Given the description of an element on the screen output the (x, y) to click on. 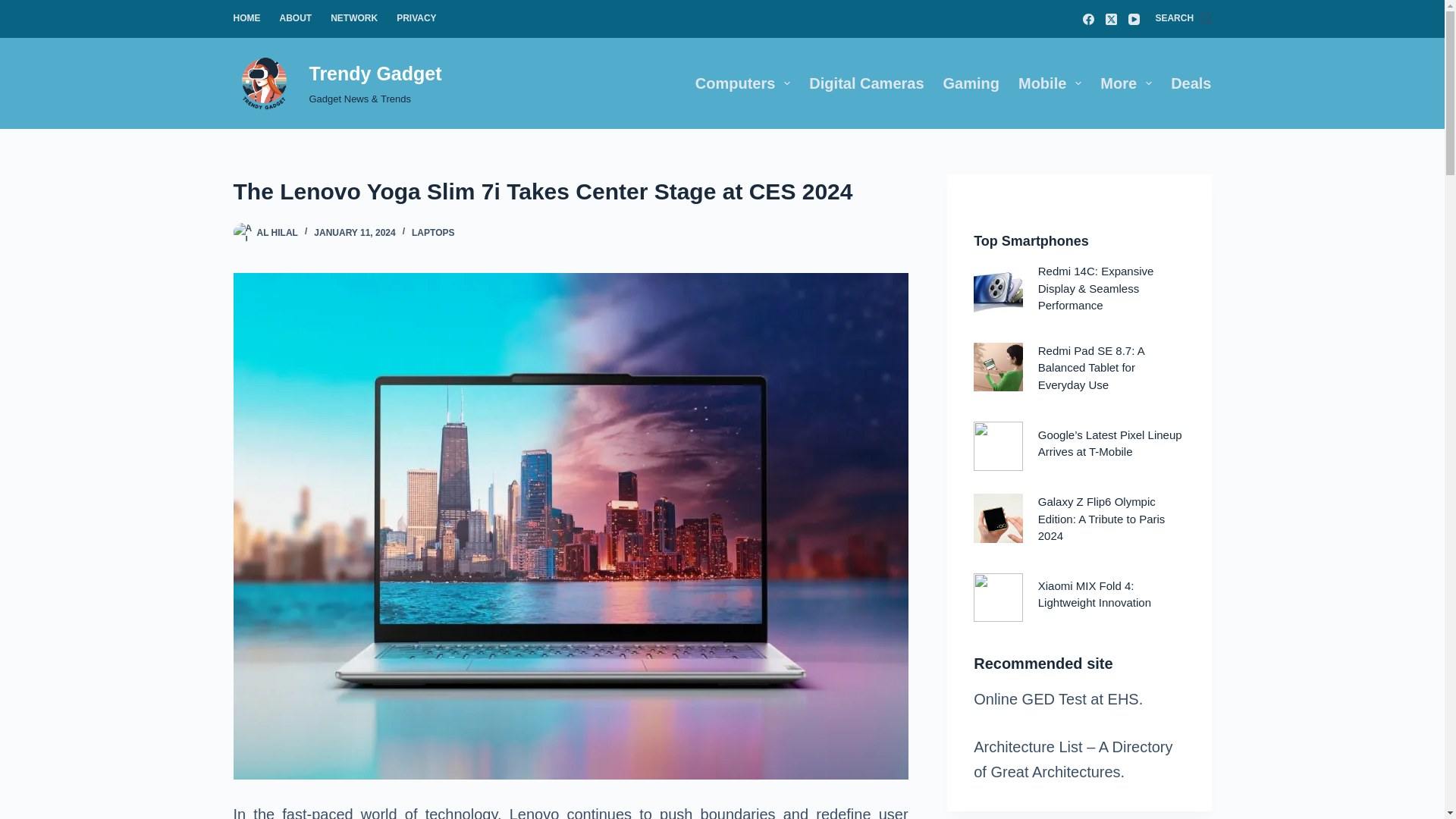
The Lenovo Yoga Slim 7i Takes Center Stage at CES 2024 (570, 191)
Skip to content (15, 7)
Architecture List (1027, 746)
Posts by Al Hilal (276, 232)
